Given the description of an element on the screen output the (x, y) to click on. 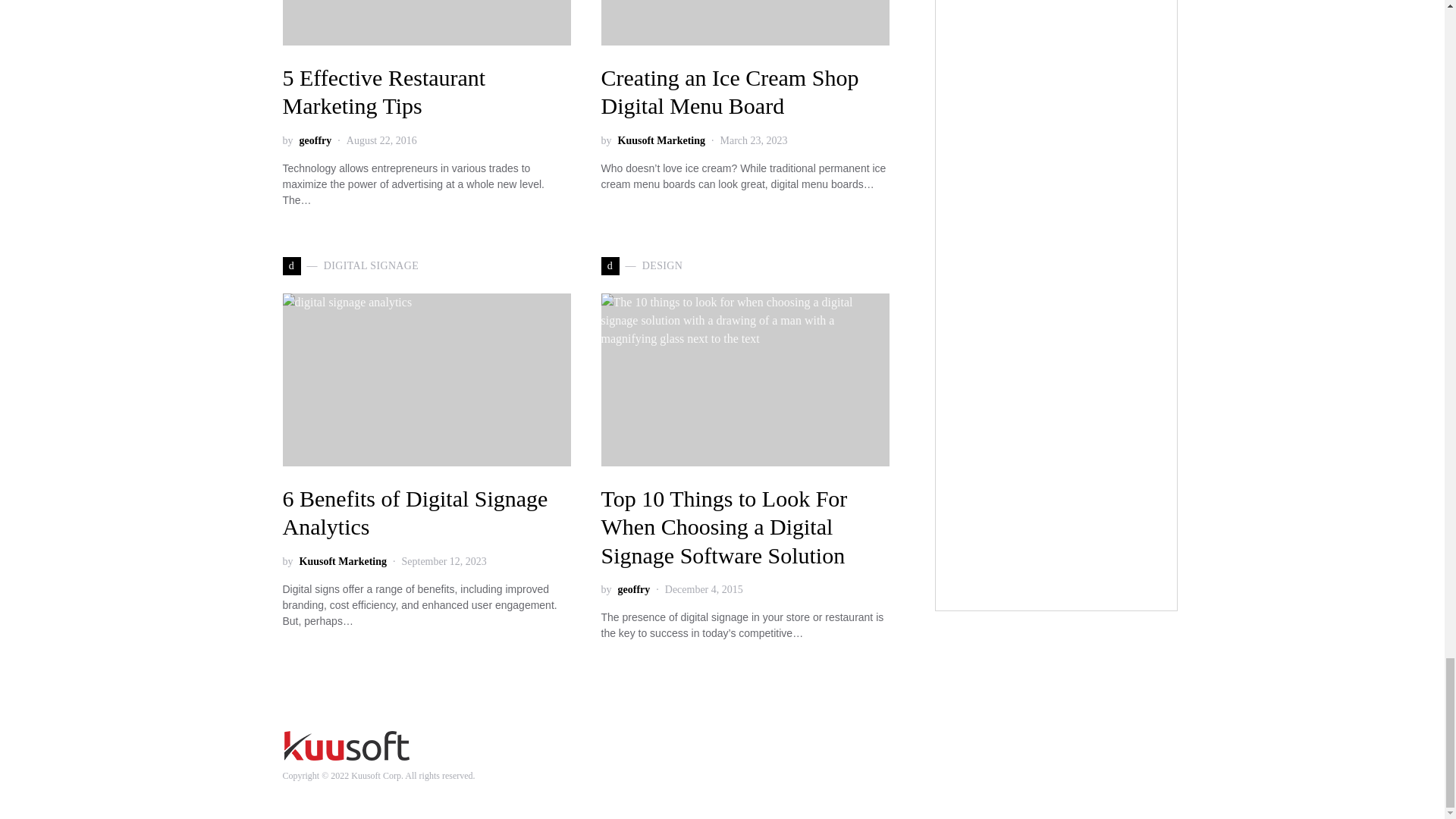
View all posts by geoffry (314, 140)
View all posts by Kuusoft Marketing (660, 140)
View all posts by Kuusoft Marketing (342, 561)
View all posts by geoffry (633, 589)
